Given the description of an element on the screen output the (x, y) to click on. 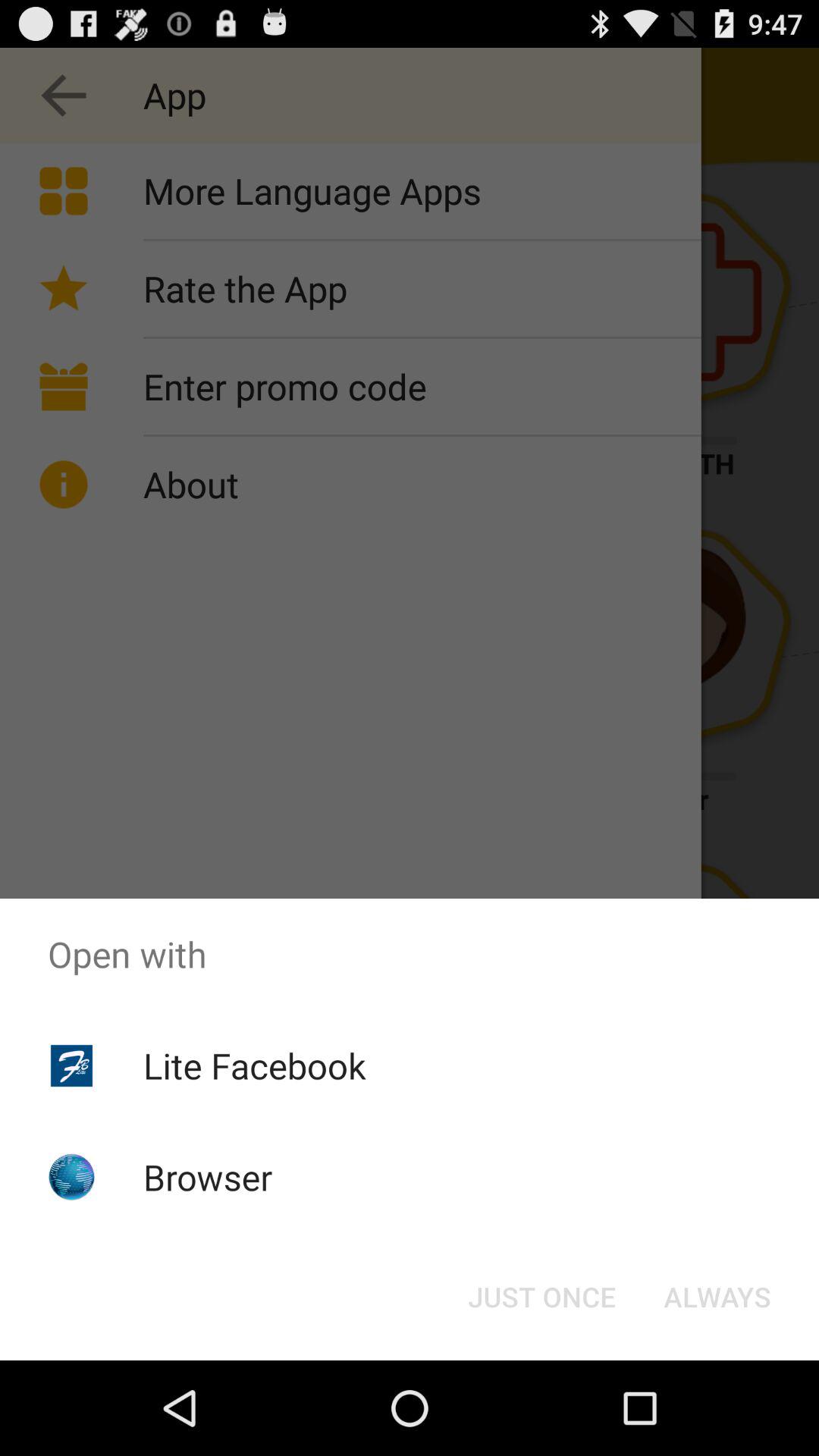
launch the browser icon (207, 1176)
